Given the description of an element on the screen output the (x, y) to click on. 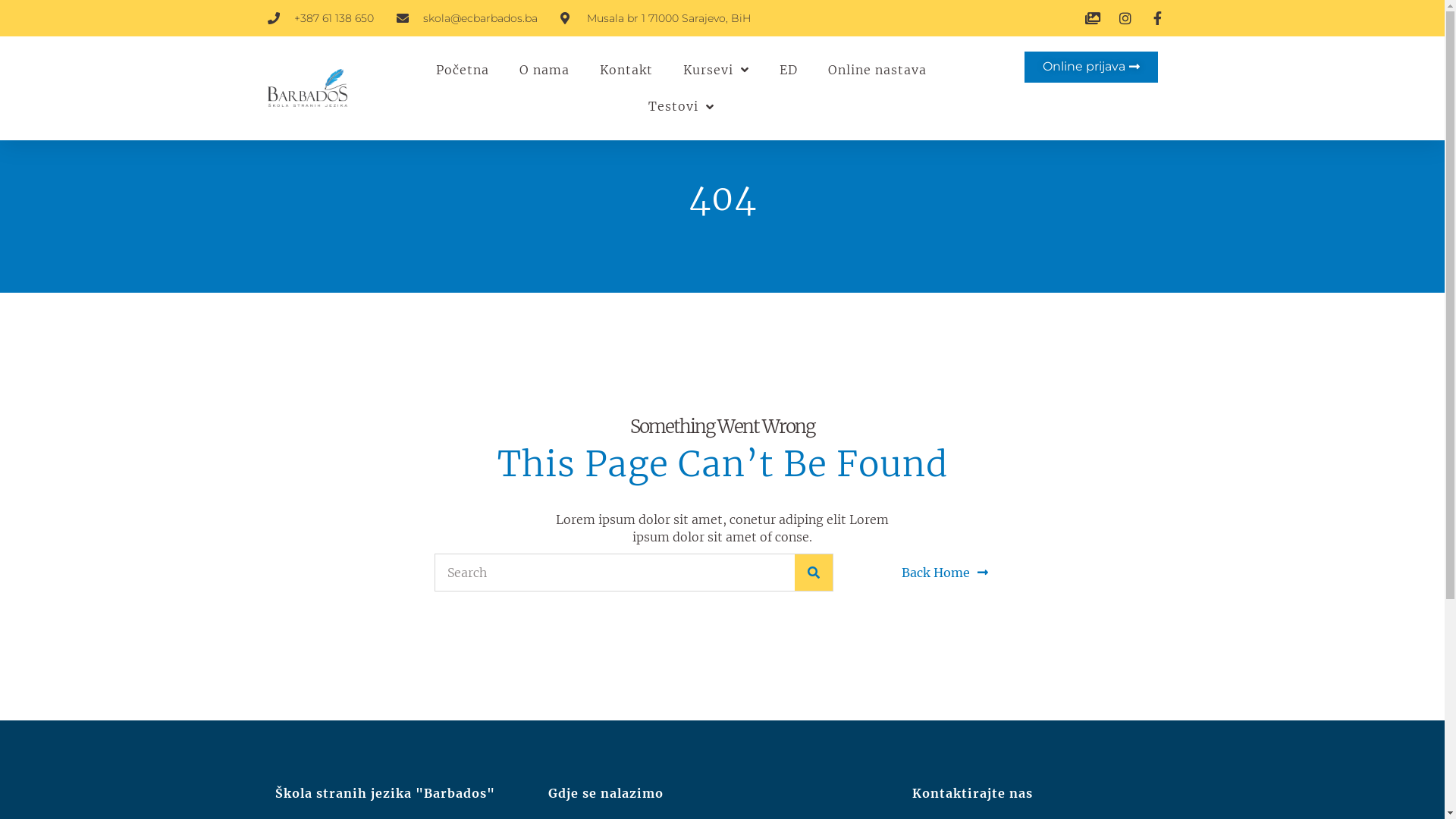
Back Home Element type: text (944, 572)
ED Element type: text (788, 69)
Kontakt Element type: text (626, 69)
O nama Element type: text (544, 69)
Testovi Element type: text (681, 105)
Online prijava Element type: text (1090, 66)
Skip to content Element type: text (11, 31)
Kursevi Element type: text (716, 69)
Online nastava Element type: text (876, 69)
skolabarbados Element type: hover (306, 87)
